Given the description of an element on the screen output the (x, y) to click on. 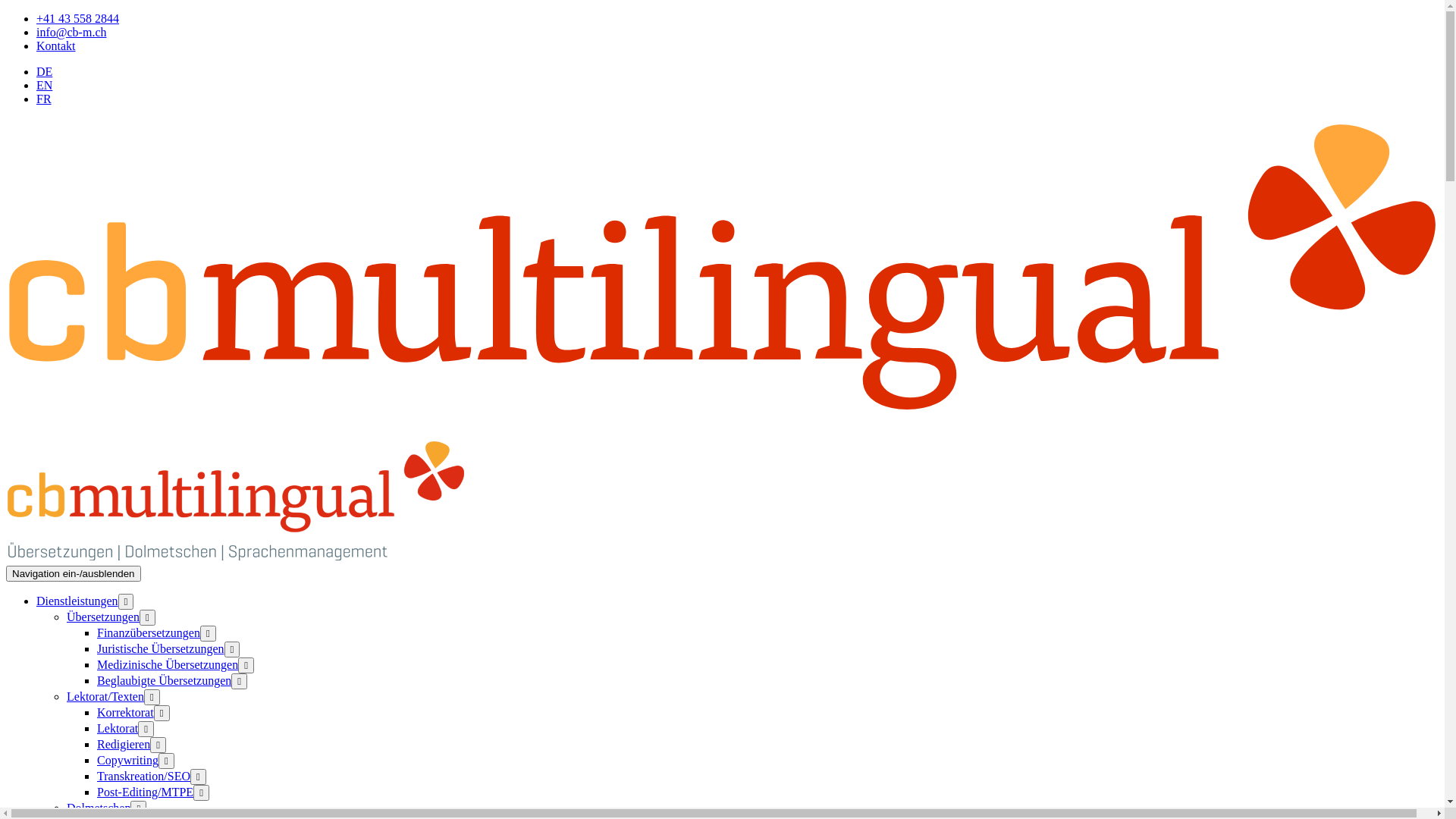
Post-Editing/MTPE Element type: text (145, 791)
Navigation ein-/ausblenden Element type: text (73, 573)
Lektorat Element type: text (117, 727)
Kontakt Element type: text (55, 45)
Lektorat/Texten Element type: text (105, 696)
DE Element type: text (44, 71)
Korrektorat Element type: text (125, 712)
+41 43 558 2844 Element type: text (77, 18)
Dienstleistungen Element type: text (77, 600)
Copywriting Element type: text (127, 759)
Dolmetschen Element type: text (98, 807)
Transkreation/SEO Element type: text (143, 775)
EN Element type: text (44, 84)
info@cb-m.ch Element type: text (71, 31)
FR Element type: text (43, 98)
Redigieren Element type: text (123, 743)
